Given the description of an element on the screen output the (x, y) to click on. 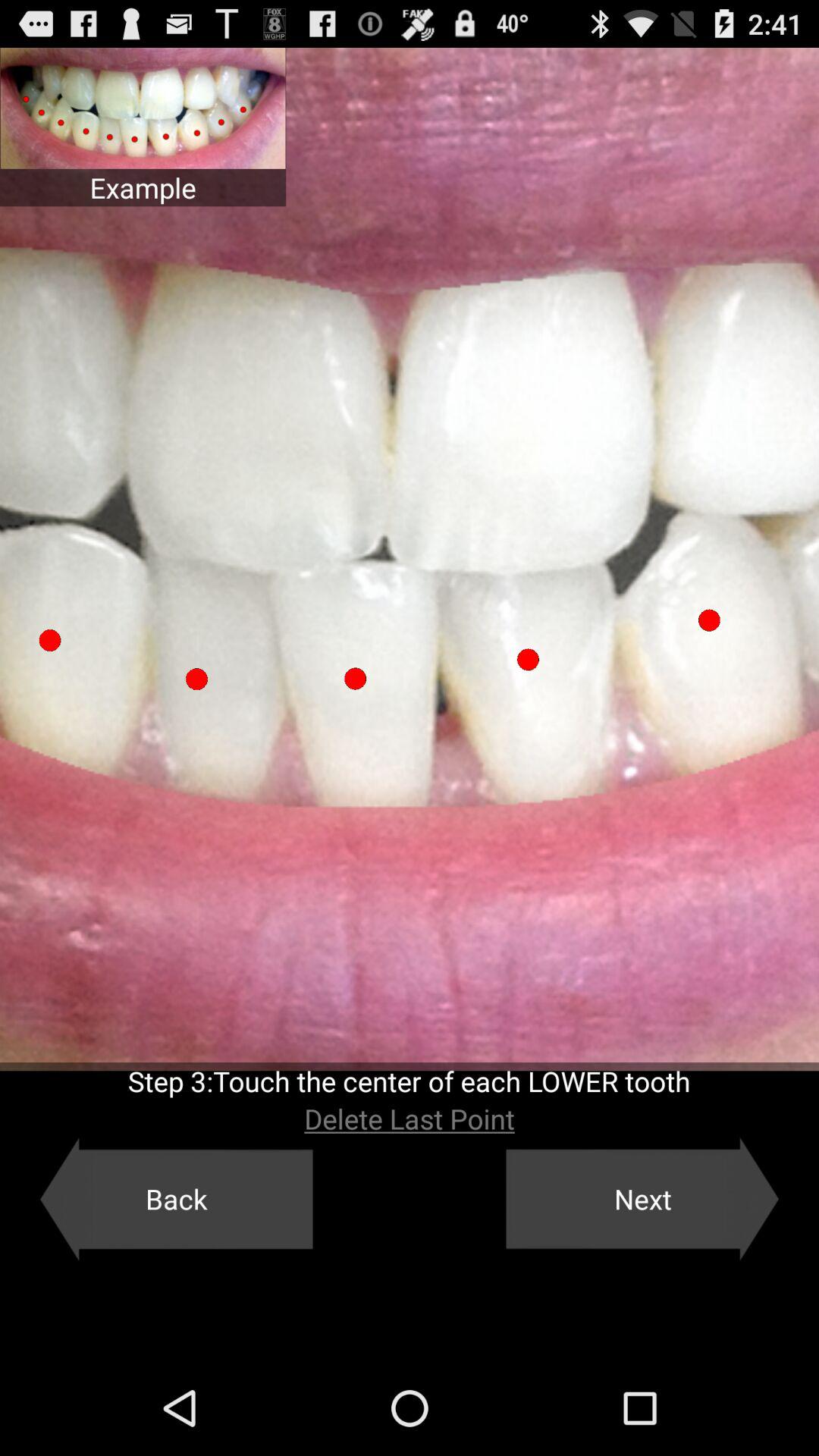
flip to the delete last point (409, 1118)
